Given the description of an element on the screen output the (x, y) to click on. 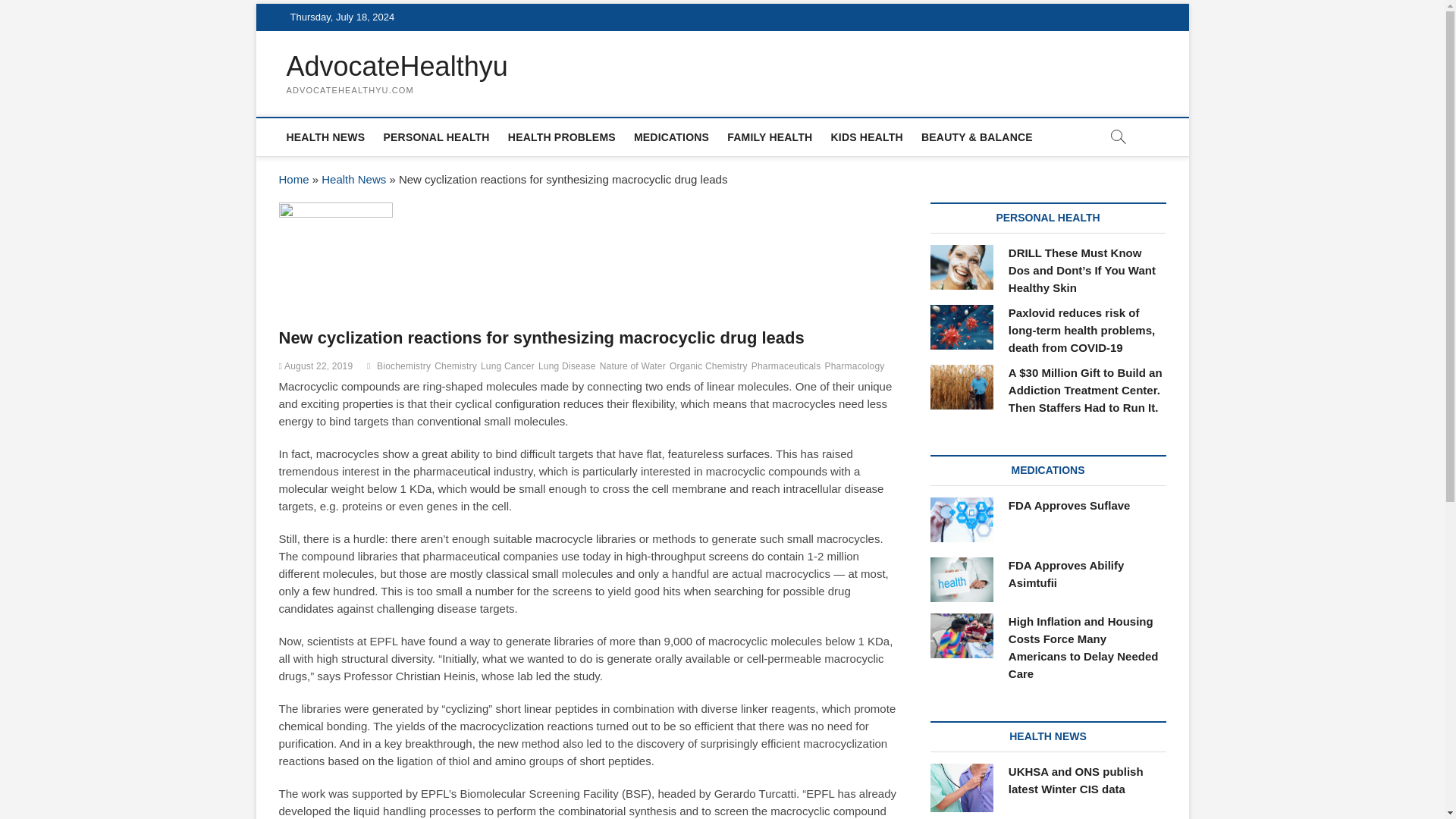
KIDS HEALTH (867, 136)
MEDICATIONS (671, 136)
HEALTH PROBLEMS (561, 136)
PERSONAL HEALTH (436, 136)
Pharmacology (856, 368)
Chemistry (456, 368)
Organic Chemistry (710, 368)
FDA Approves Abilify Asimtufii (961, 579)
Biochemistry (405, 368)
FAMILY HEALTH (769, 136)
AdvocateHealthyu (397, 66)
Lung Cancer (509, 368)
